Given the description of an element on the screen output the (x, y) to click on. 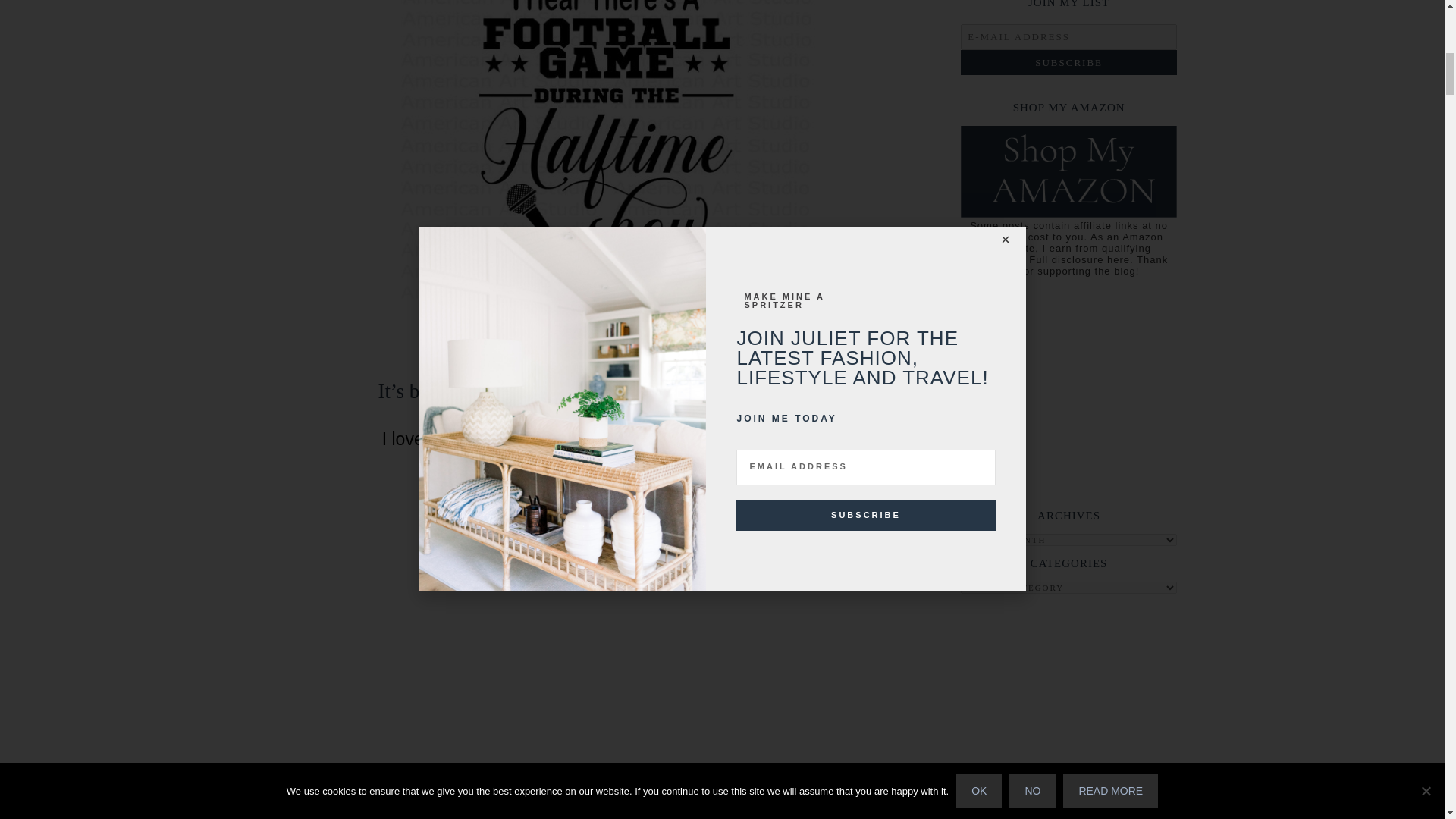
Subscribe (1068, 62)
Etsy (605, 342)
Shop my Amazon (1068, 214)
